Given the description of an element on the screen output the (x, y) to click on. 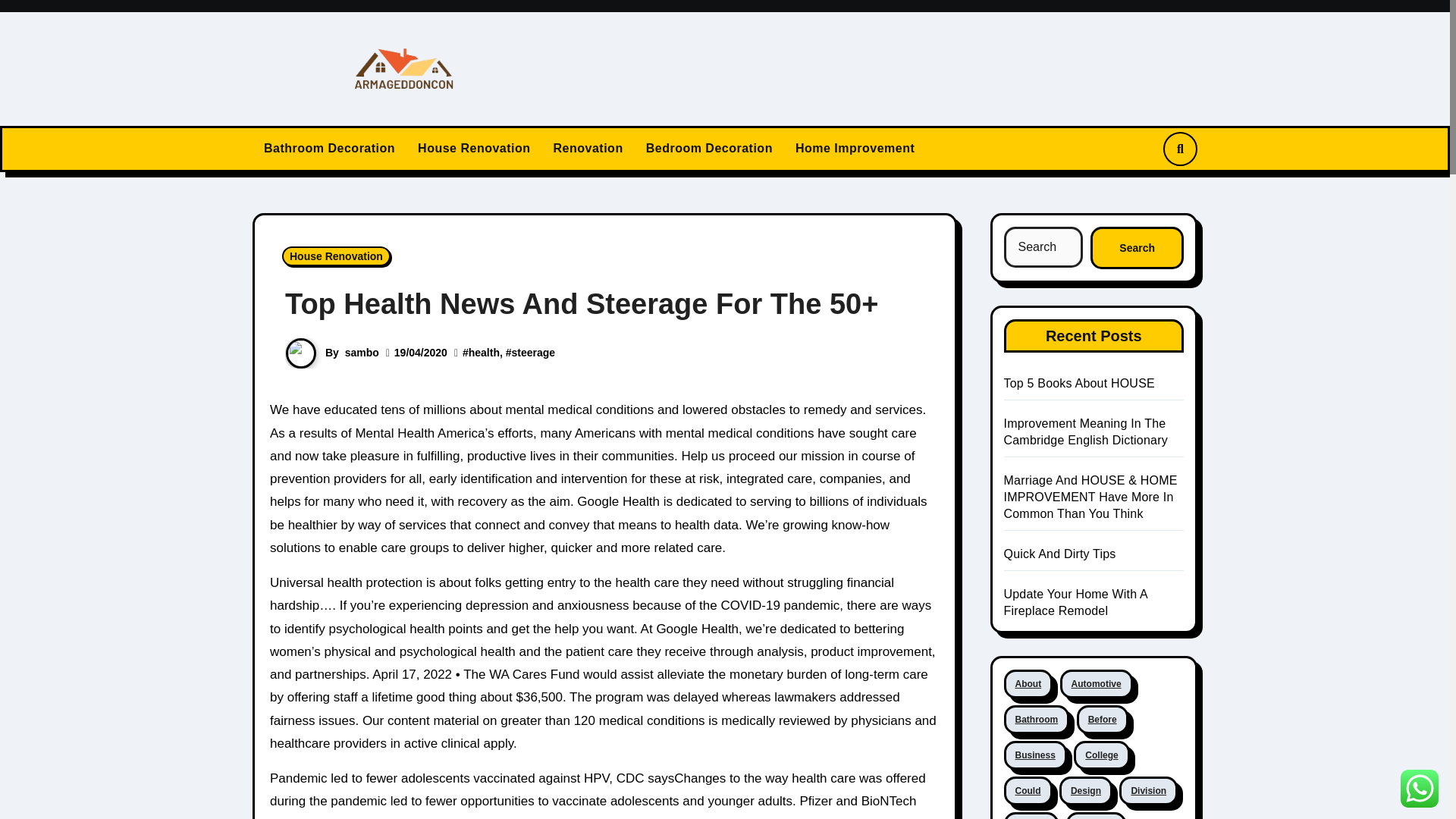
health (483, 352)
Renovation (587, 148)
steerage (534, 352)
Search (1136, 247)
Search (1136, 247)
sambo (361, 352)
Home Improvement (855, 148)
Bathroom Decoration (328, 148)
Home Improvement (855, 148)
Bedroom Decoration (709, 148)
